Given the description of an element on the screen output the (x, y) to click on. 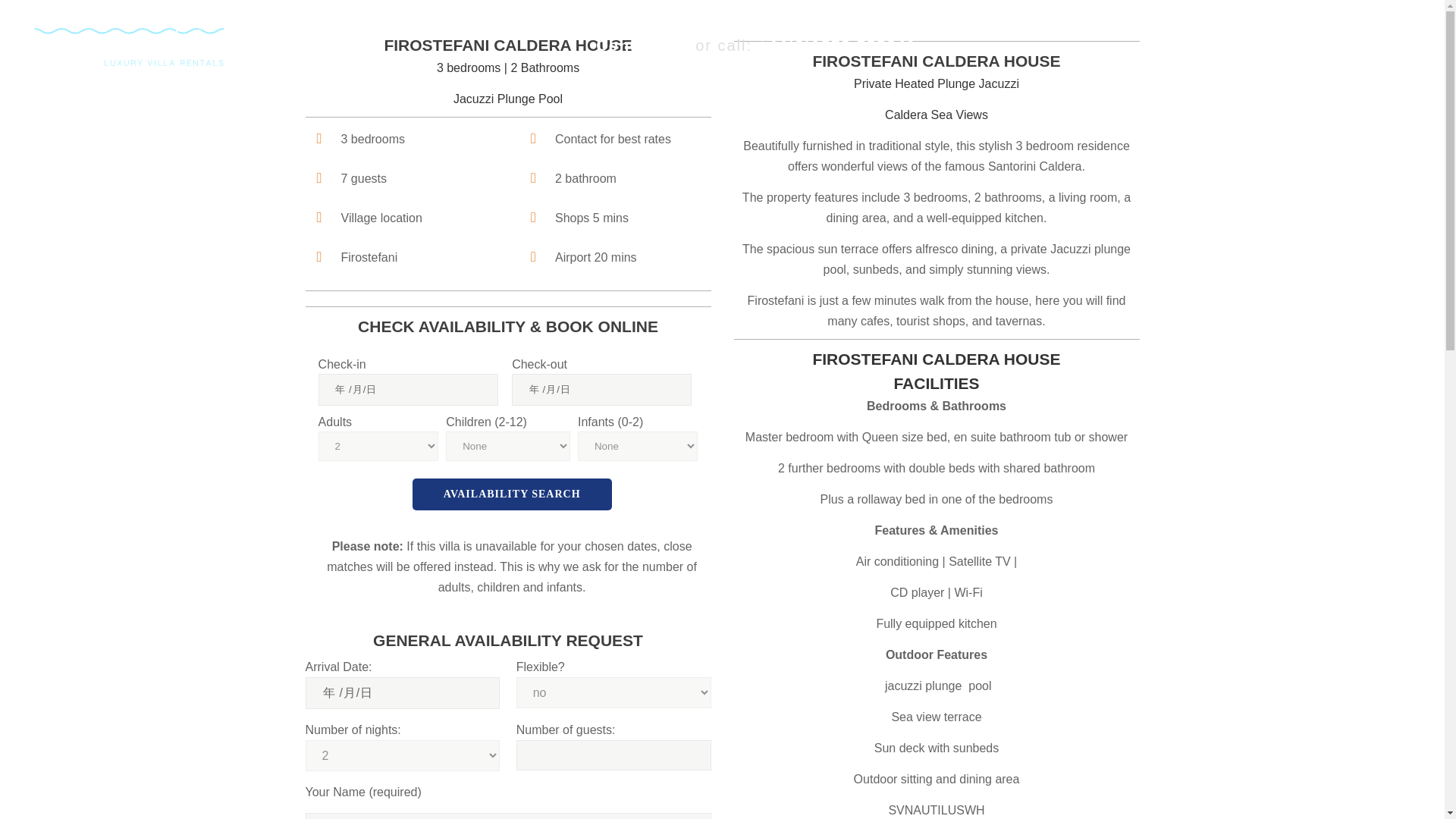
Contact us (641, 45)
MENU (1370, 45)
Contact Santorini Villas (641, 45)
Click to call (837, 45)
